Given the description of an element on the screen output the (x, y) to click on. 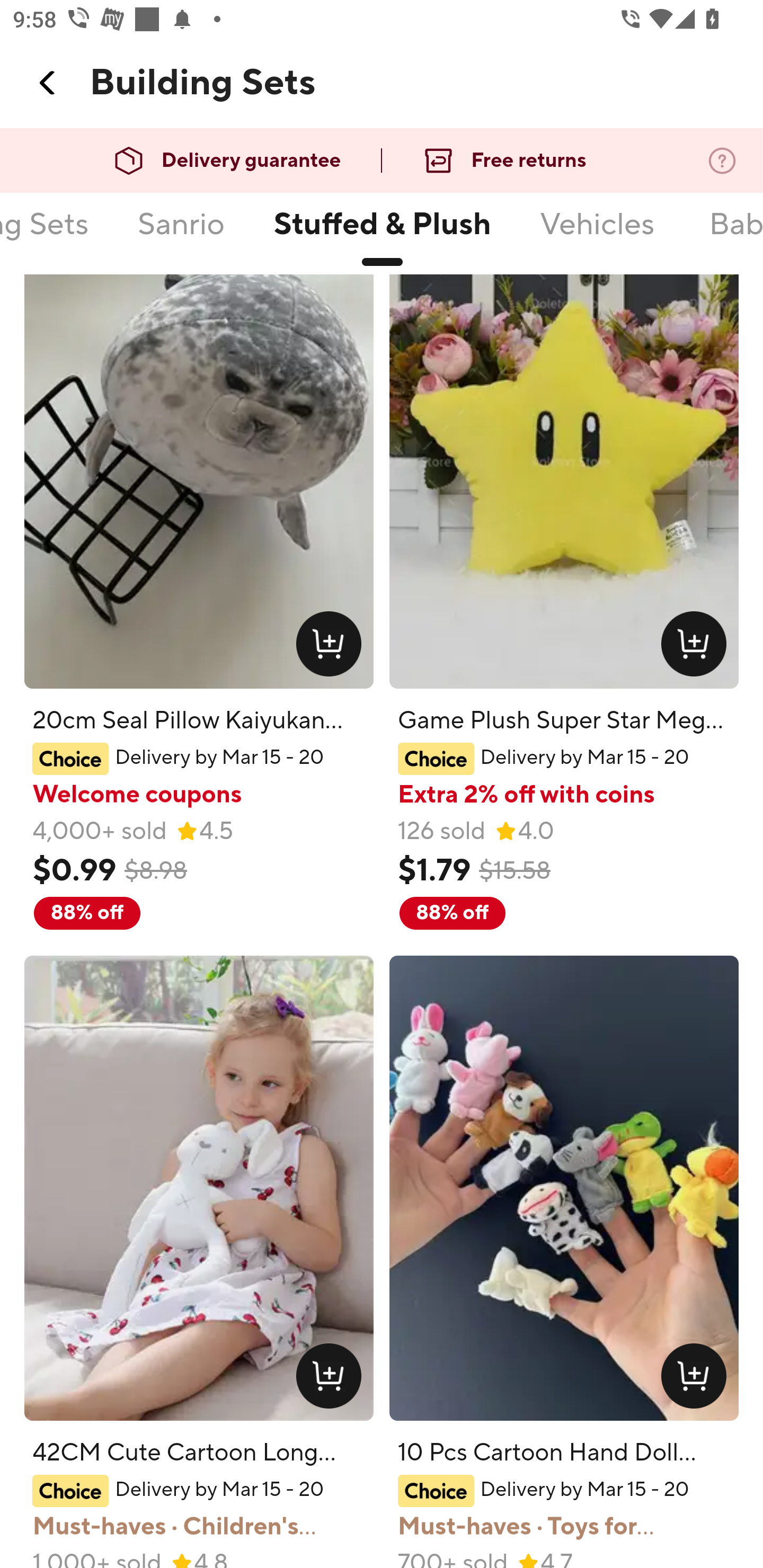
 (48, 82)
Baby (732, 168)
Sanrio (180, 235)
Stuffed & Plush (382, 235)
Vehicles (596, 235)
